Given the description of an element on the screen output the (x, y) to click on. 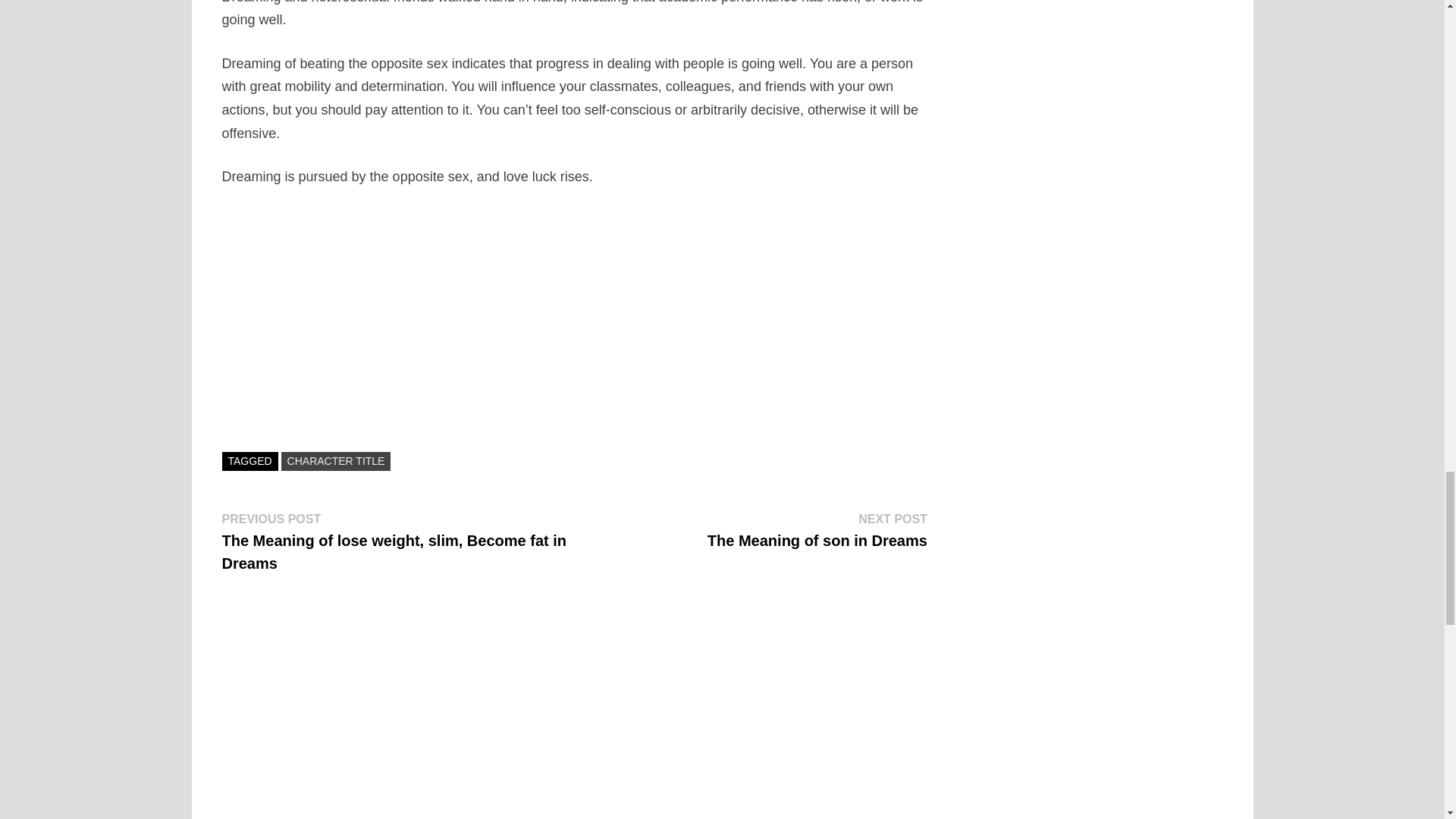
CHARACTER TITLE (817, 529)
